Given the description of an element on the screen output the (x, y) to click on. 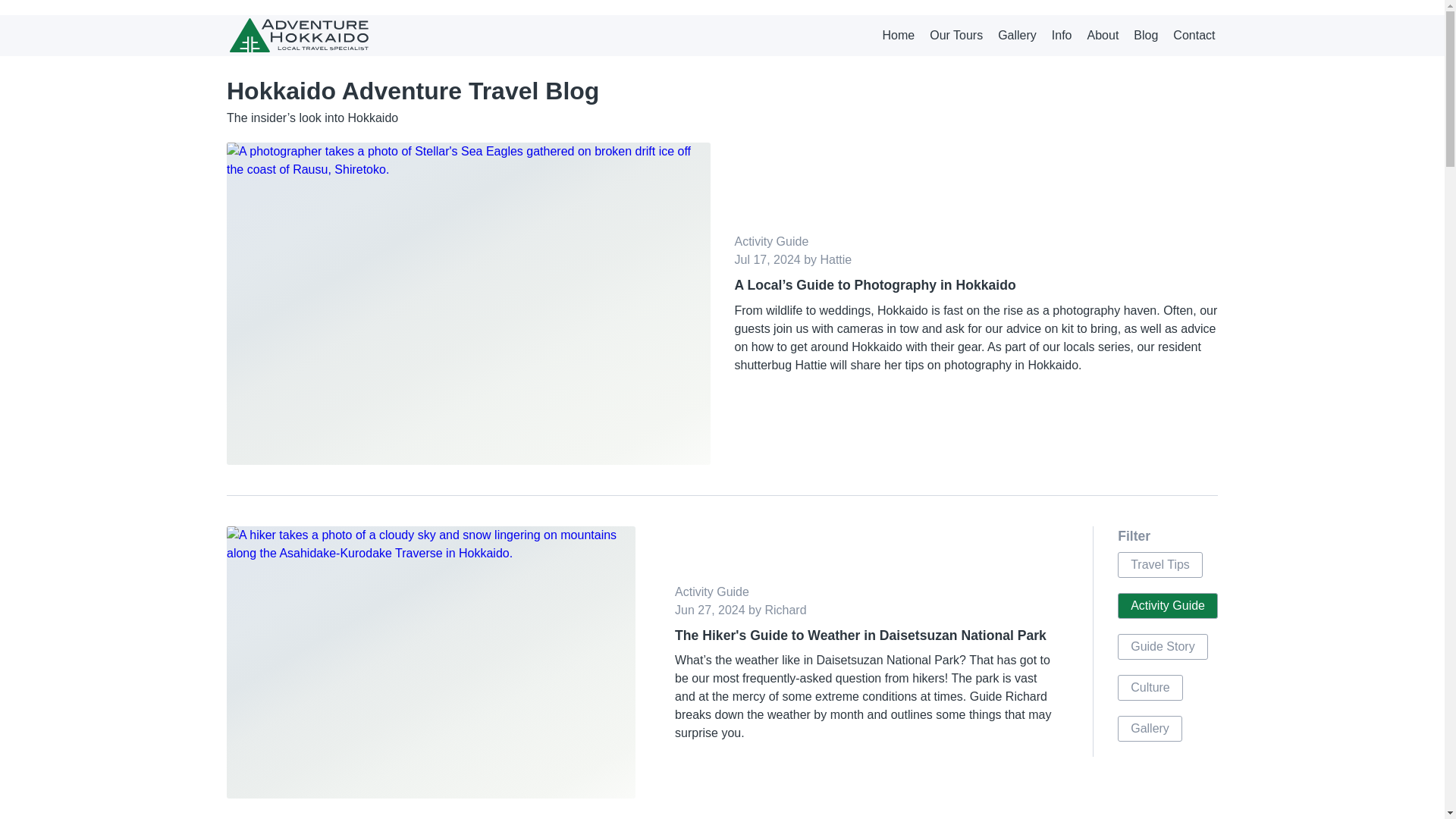
Gallery (1150, 728)
Contact (1193, 34)
Travel Tips (1160, 565)
Blog (1145, 34)
Culture (1150, 687)
About (1103, 34)
The Hiker's Guide to Weather in Daisetsuzan National Park (863, 634)
Activity Guide (1167, 605)
Info (1061, 34)
Gallery (1016, 34)
Guide Story (1162, 646)
Our Tours (956, 34)
Home (898, 34)
